Given the description of an element on the screen output the (x, y) to click on. 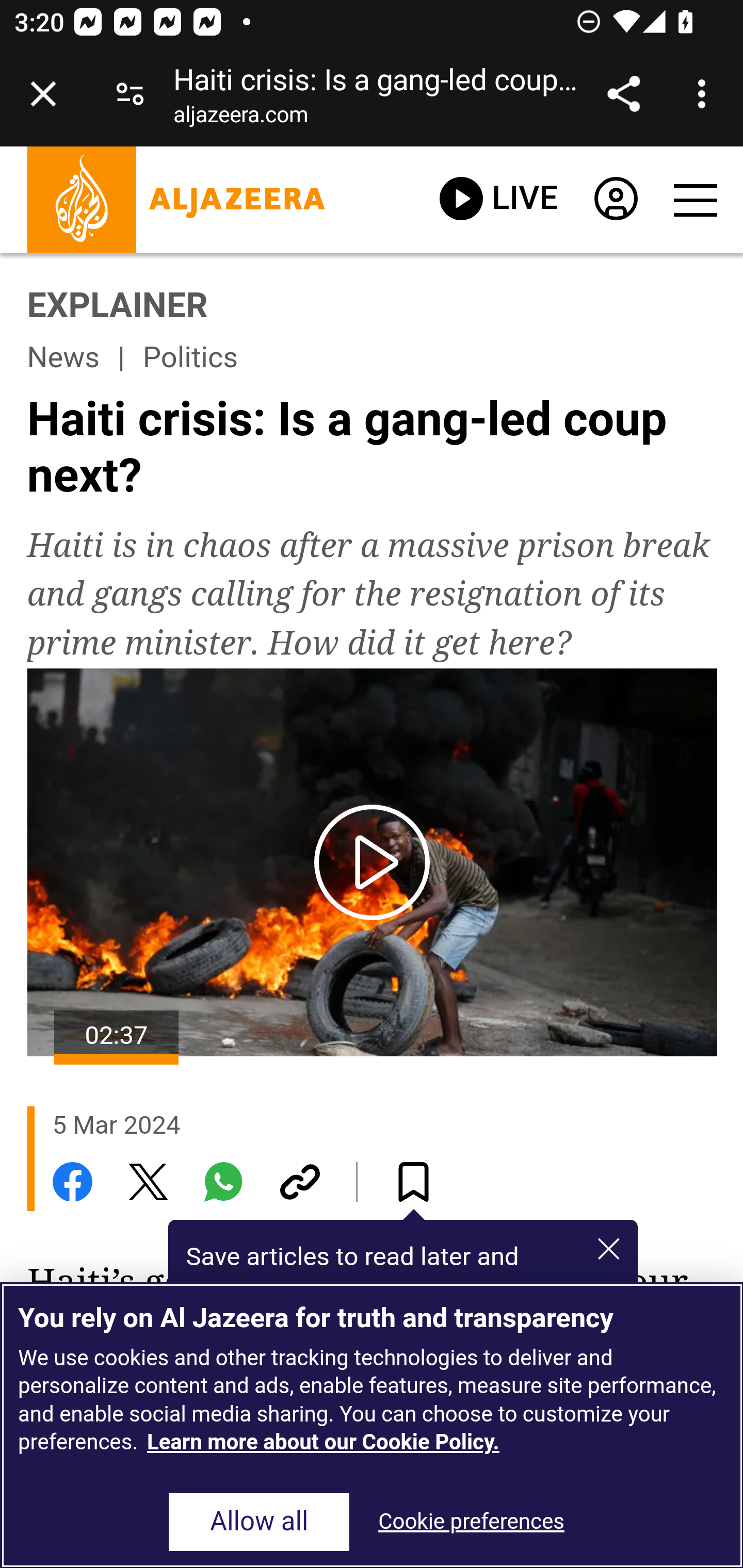
Close tab (43, 93)
Share link address (623, 93)
Customize and control Google Chrome (705, 93)
Connection is secure (129, 93)
aljazeera.com (240, 117)
al jazeera, link to home page (176, 199)
link to live stream video player LIVE (498, 199)
Sign in (615, 202)
Show navigation menu (694, 200)
News (63, 357)
Politics (189, 357)
Click here to play video (372, 861)
Share on Facebook (71, 1181)
Share on Twitter (147, 1181)
Share on Whatsapp (223, 1181)
Copy link (299, 1181)
Save to Reading list (412, 1181)
Close Tooltip (608, 1247)
Allow all (258, 1522)
Cookie preferences (470, 1522)
